Given the description of an element on the screen output the (x, y) to click on. 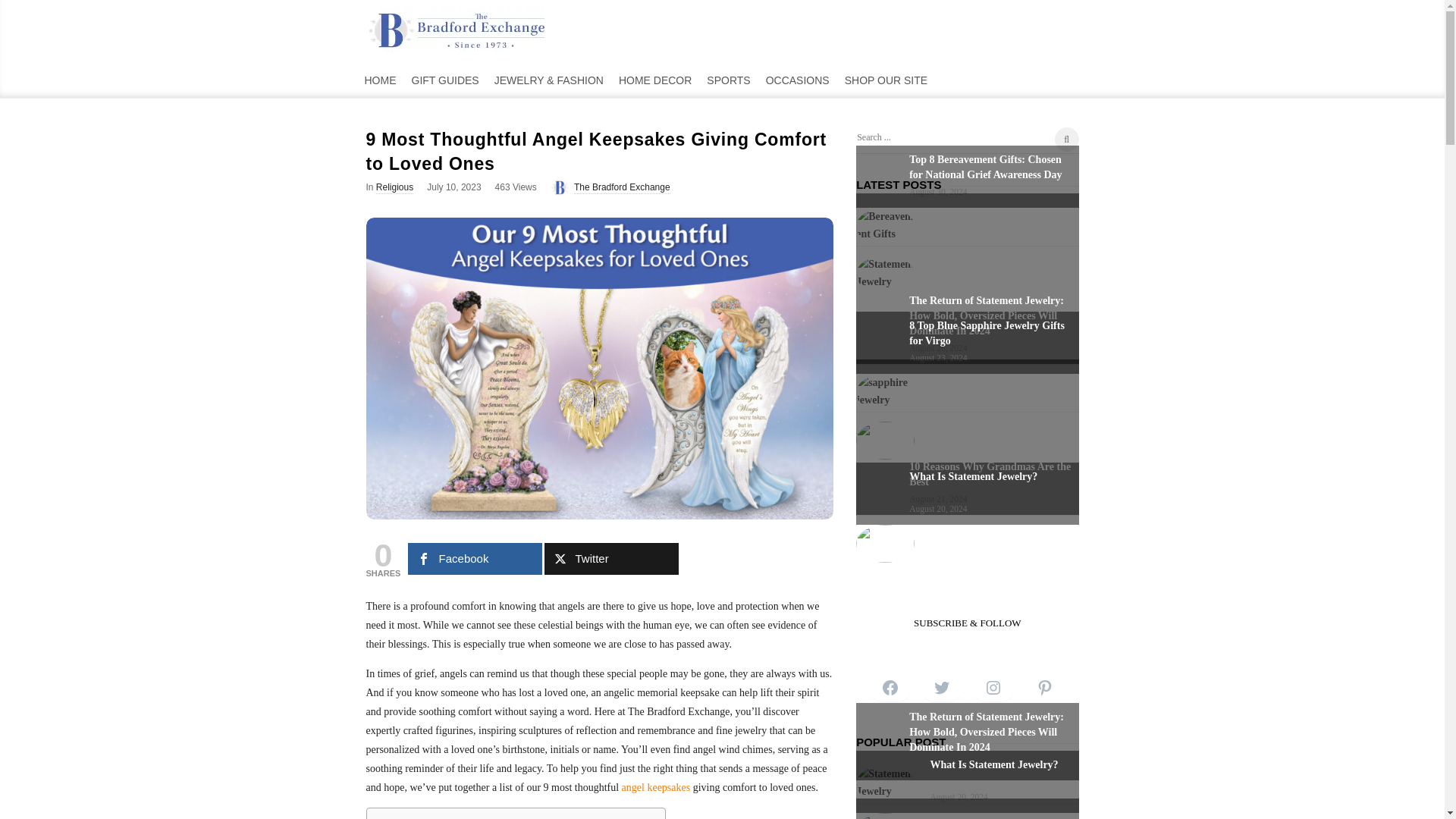
GIFT GUIDES (444, 78)
OCCASIONS (797, 78)
SPORTS (727, 78)
Religious (394, 187)
SHOP OUR SITE (885, 78)
HOME DECOR (654, 78)
HOME (379, 78)
Facebook (474, 558)
Twitter (611, 558)
The Bradford Exchange (621, 187)
